Given the description of an element on the screen output the (x, y) to click on. 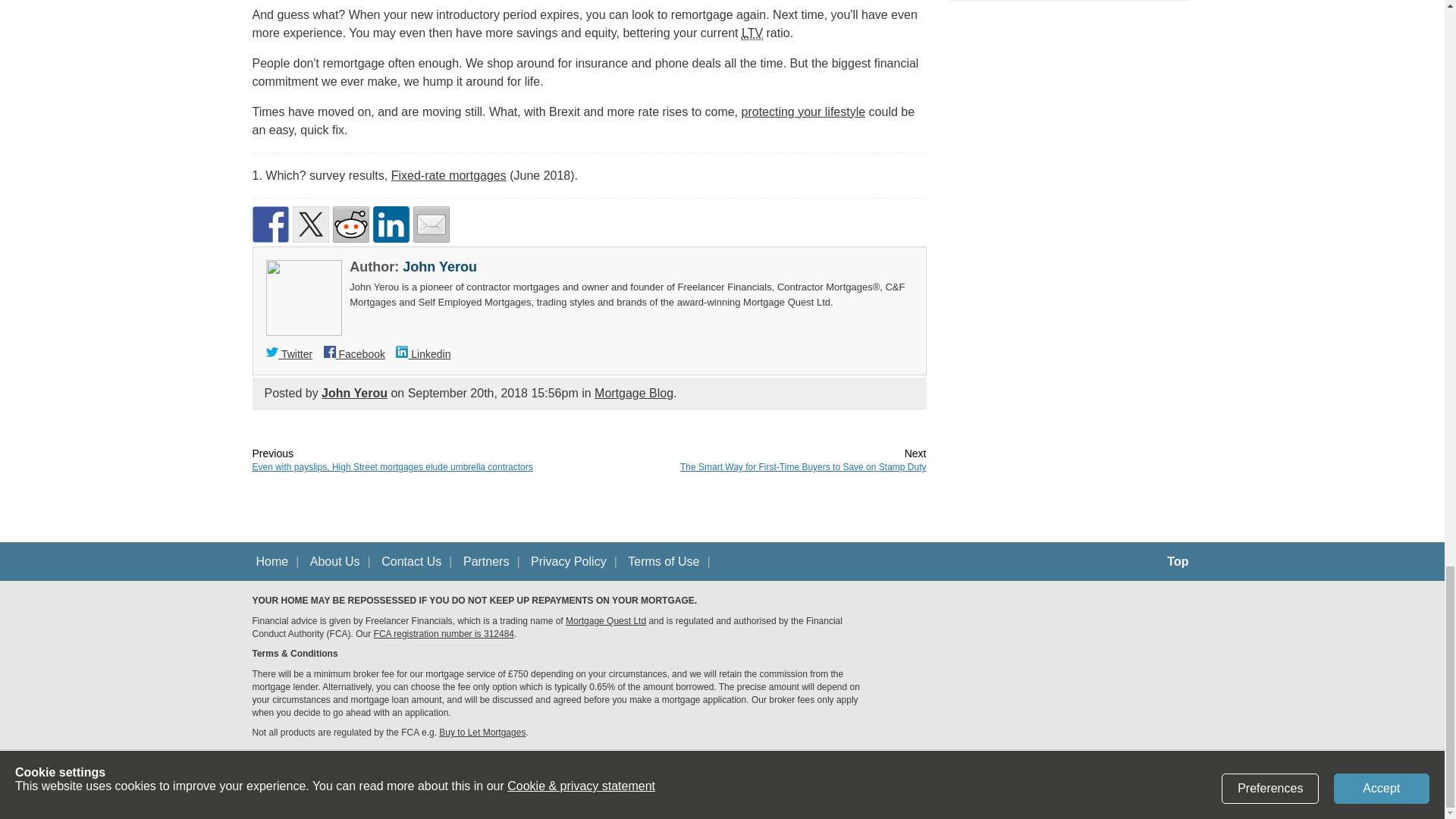
Share on Twitter (310, 224)
Twitter (289, 354)
Facebook (354, 354)
protecting your lifestyle (803, 111)
Linkedin (422, 354)
Fixed-rate mortgages (448, 174)
John Yerou (354, 392)
The Smart Way for First-Time Buyers to Save on Stamp Duty (802, 466)
Loan-to-Value (751, 33)
Mortgage Blog (633, 392)
Share on Facebook (269, 224)
Share on Reddit (349, 224)
John Yerou (440, 266)
